Given the description of an element on the screen output the (x, y) to click on. 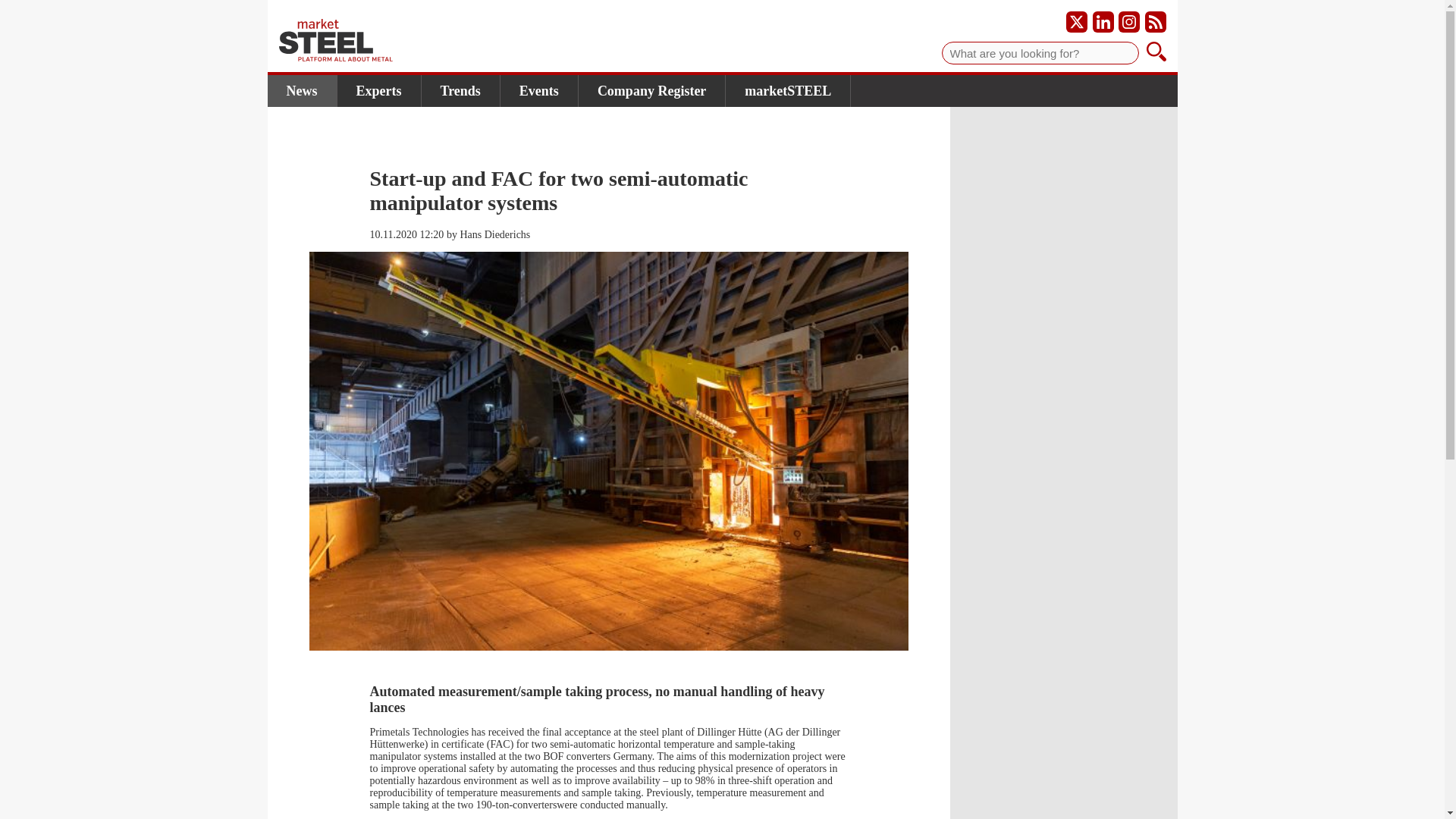
Experts (378, 91)
Trends (461, 91)
News (301, 91)
Experts (378, 91)
News (301, 91)
Trends (461, 91)
